Given the description of an element on the screen output the (x, y) to click on. 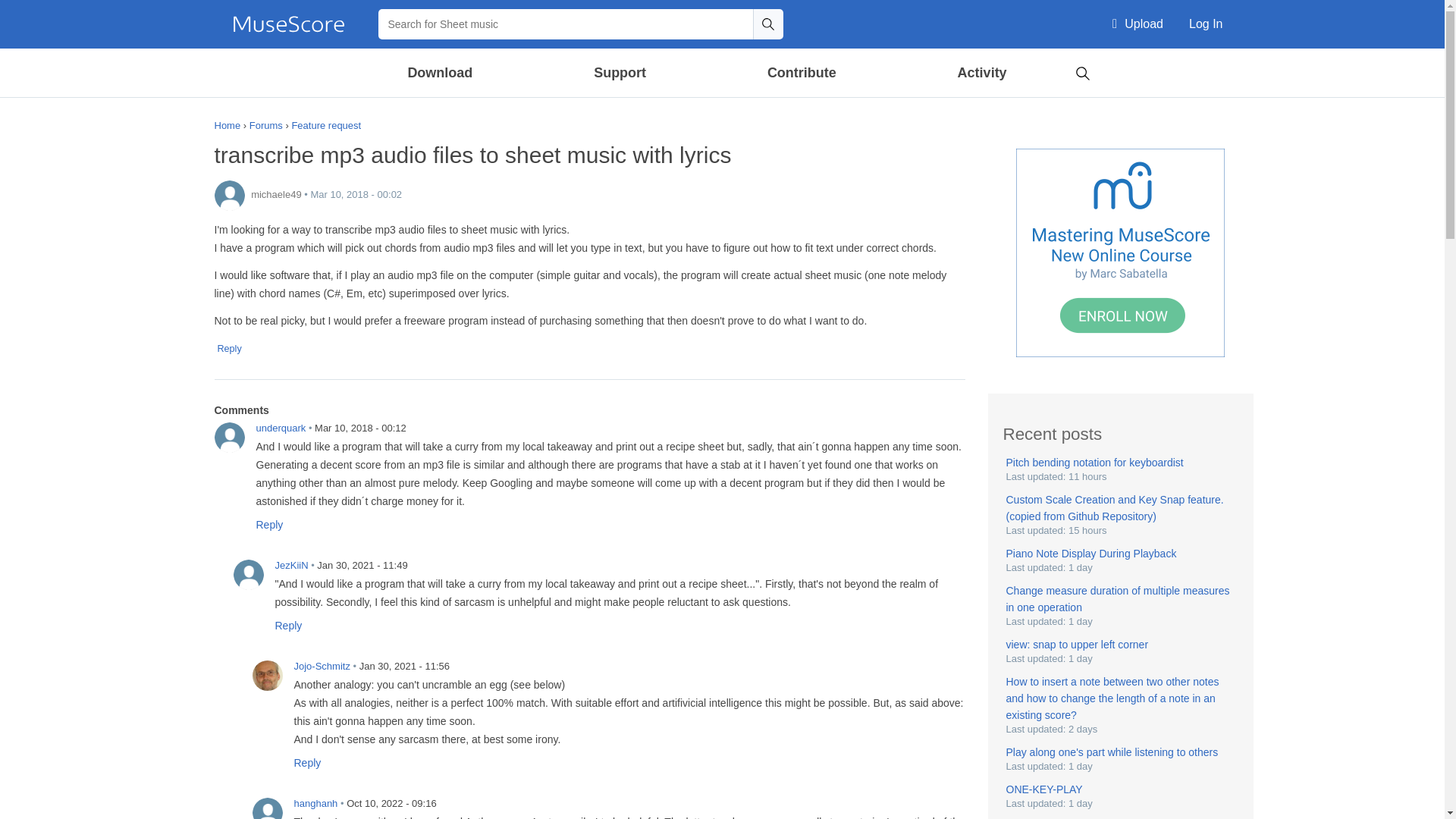
underquark (229, 437)
Home (287, 23)
Search (1082, 71)
Jojo-Schmitz (266, 675)
Contribute (801, 72)
Activity (981, 72)
Search (767, 24)
JezKiiN (247, 574)
Download (440, 72)
michaele49 (229, 195)
Log In (1205, 24)
hanghanh (266, 808)
Search (767, 24)
MuseScore (287, 23)
